Given the description of an element on the screen output the (x, y) to click on. 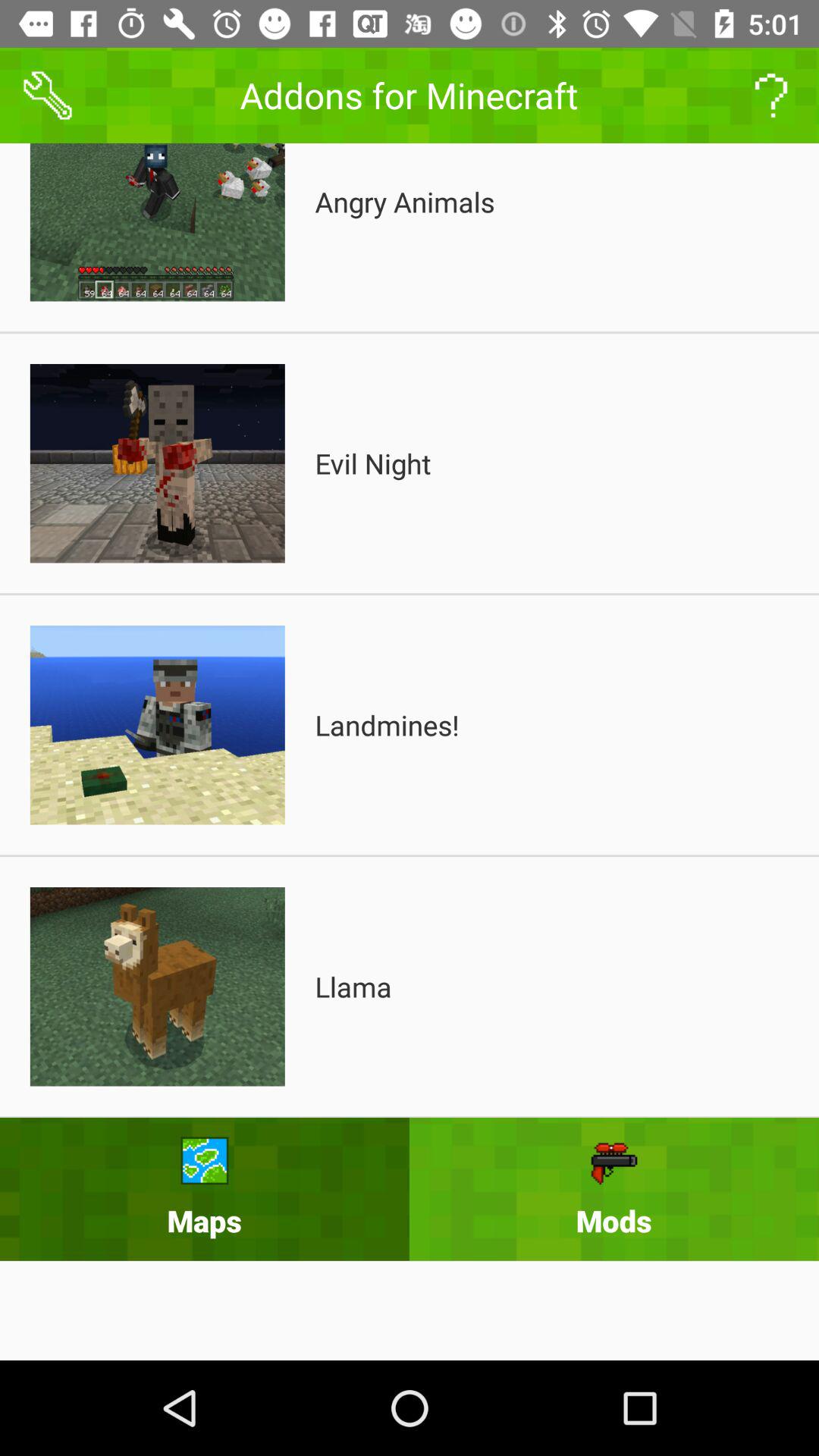
press item above the evil night (404, 201)
